Given the description of an element on the screen output the (x, y) to click on. 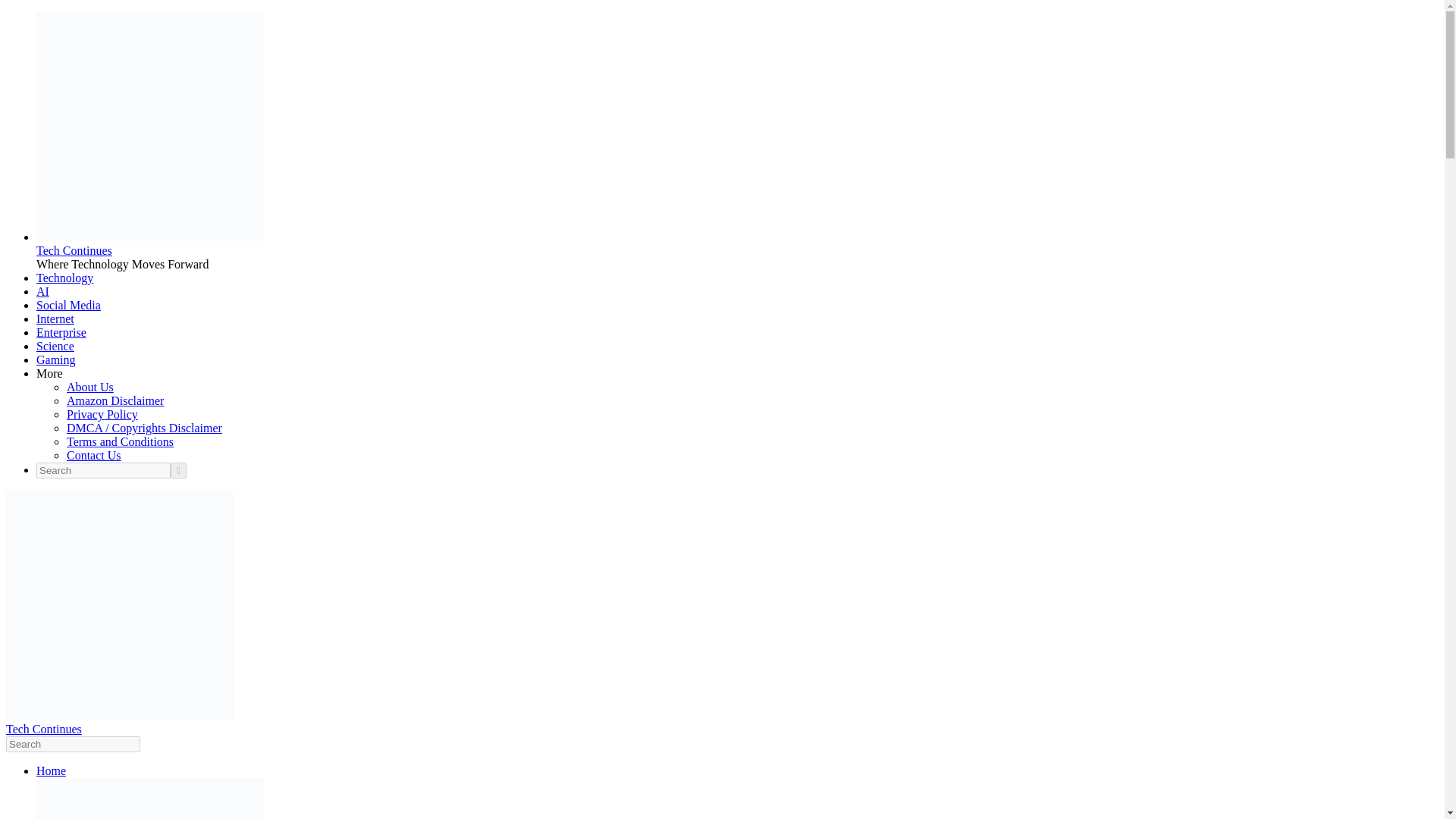
Home (50, 770)
Technology (64, 277)
Tech Continues (74, 250)
Contact Us (93, 454)
Science (55, 345)
Internet (55, 318)
Social Media (68, 305)
Enterprise (60, 332)
AI (42, 291)
Privacy Policy (102, 413)
Amazon Disclaimer (114, 400)
About Us (89, 386)
More (49, 373)
Terms and Conditions (119, 440)
Gaming (55, 359)
